Given the description of an element on the screen output the (x, y) to click on. 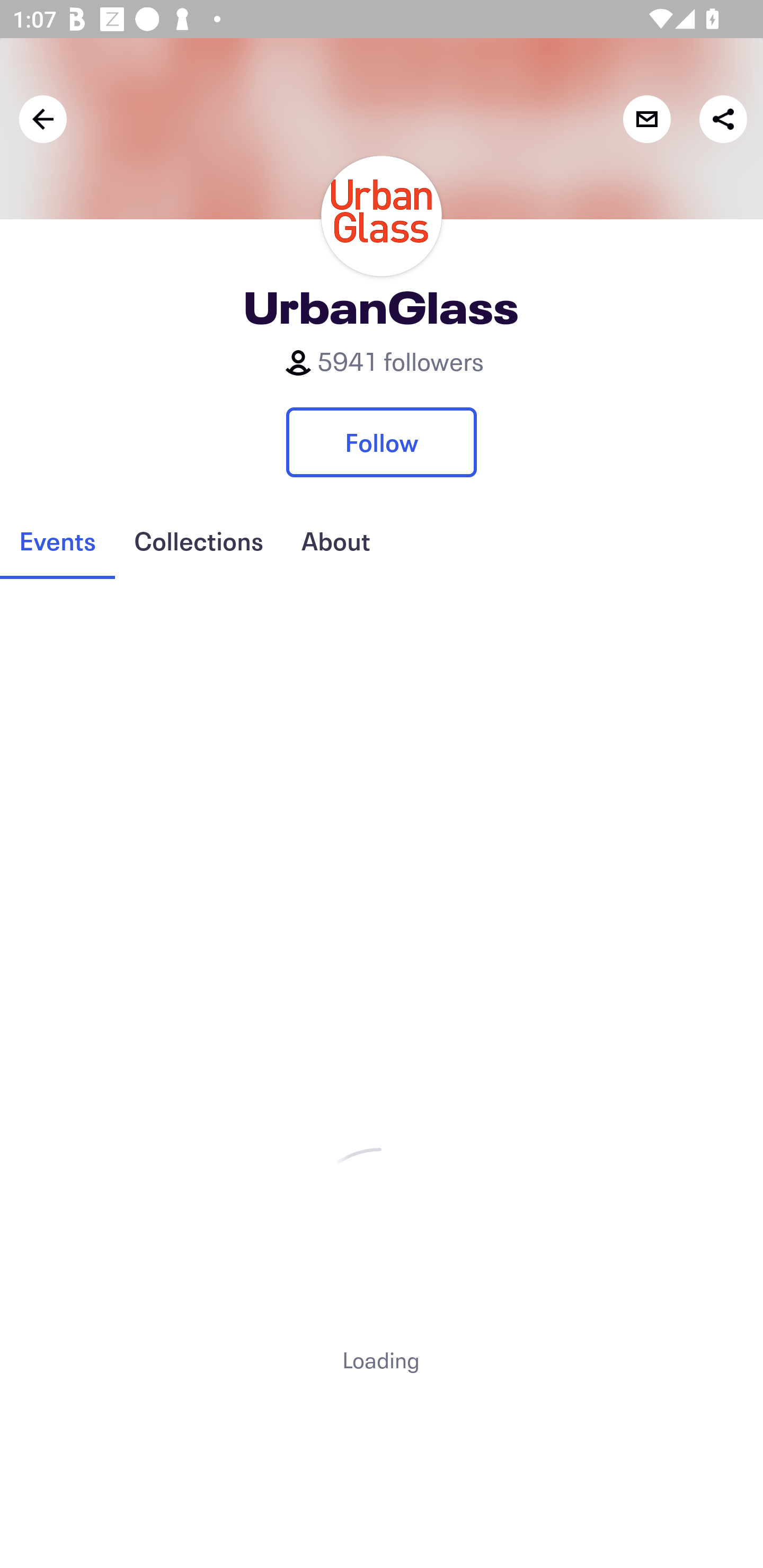
Back navigation arrow (43, 118)
Contact organizer (646, 118)
Share with friends (722, 118)
Follow (381, 441)
Collections (198, 540)
About (335, 540)
